Given the description of an element on the screen output the (x, y) to click on. 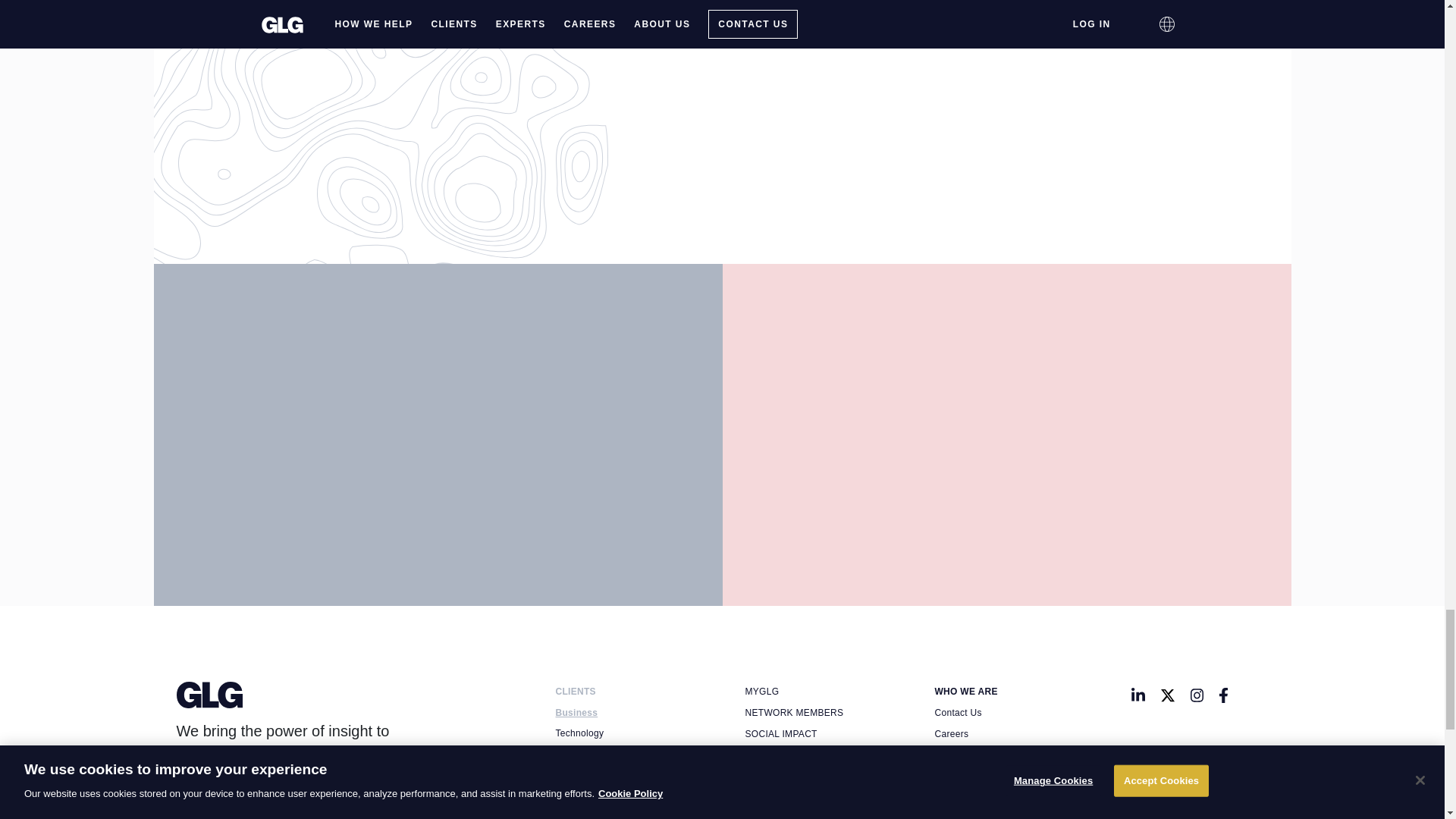
LinkedIn (1137, 694)
Instagram (1197, 694)
Twitter (1167, 694)
